Given the description of an element on the screen output the (x, y) to click on. 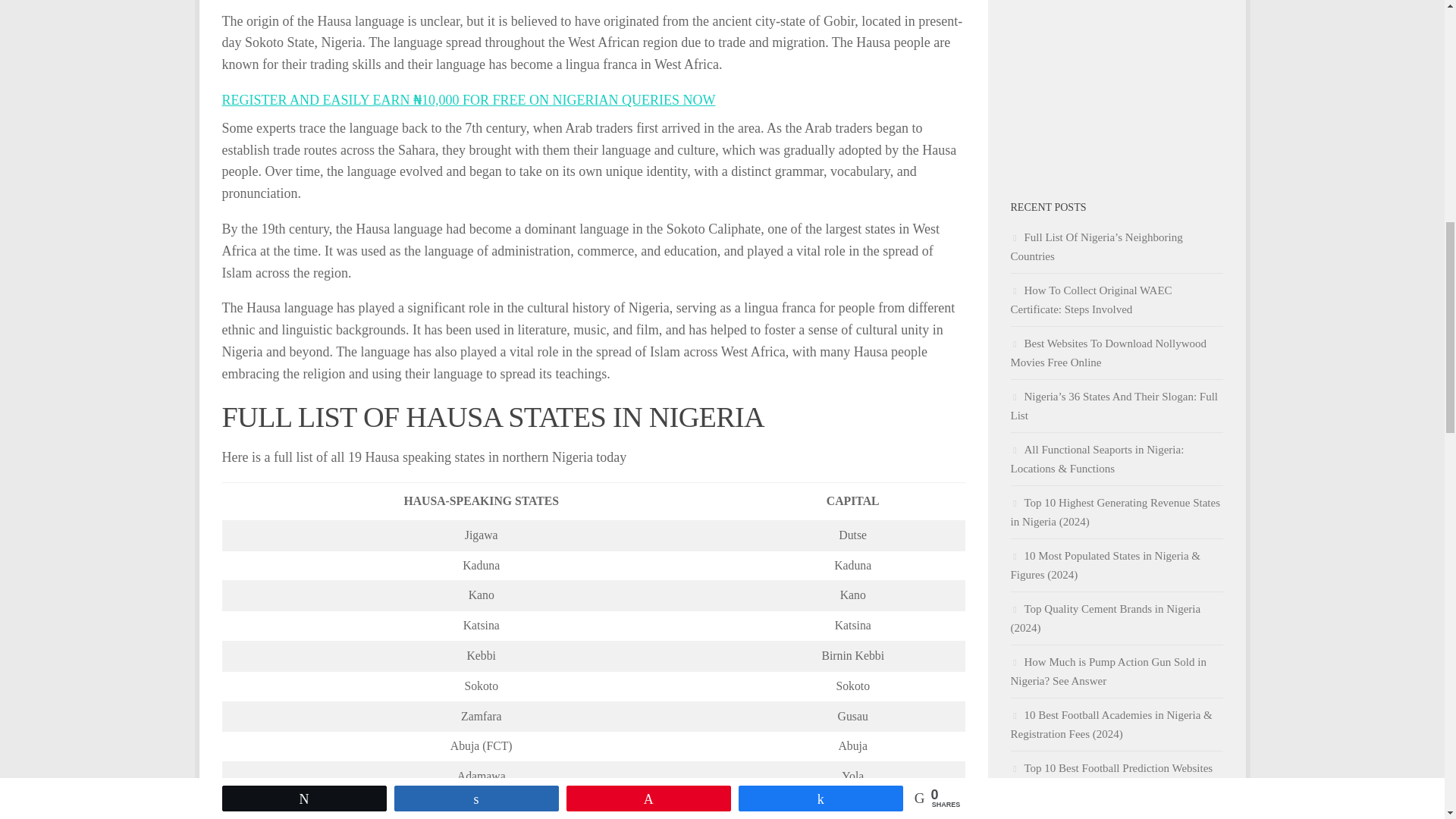
Advertisement (1116, 79)
